Given the description of an element on the screen output the (x, y) to click on. 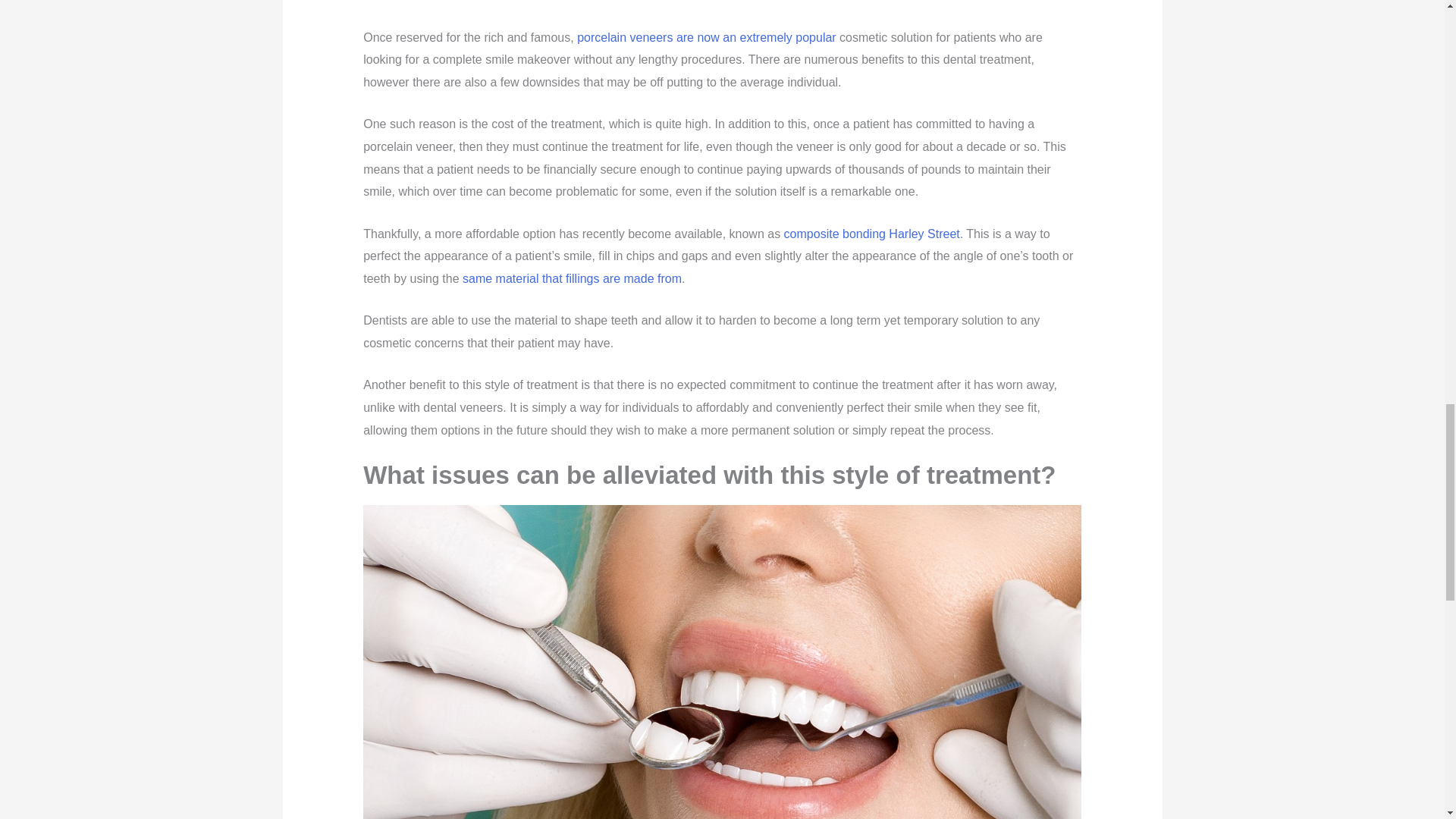
composite bonding Harley Street (871, 233)
same material that fillings are made from (572, 278)
porcelain veneers are now an extremely popular (705, 37)
